Given the description of an element on the screen output the (x, y) to click on. 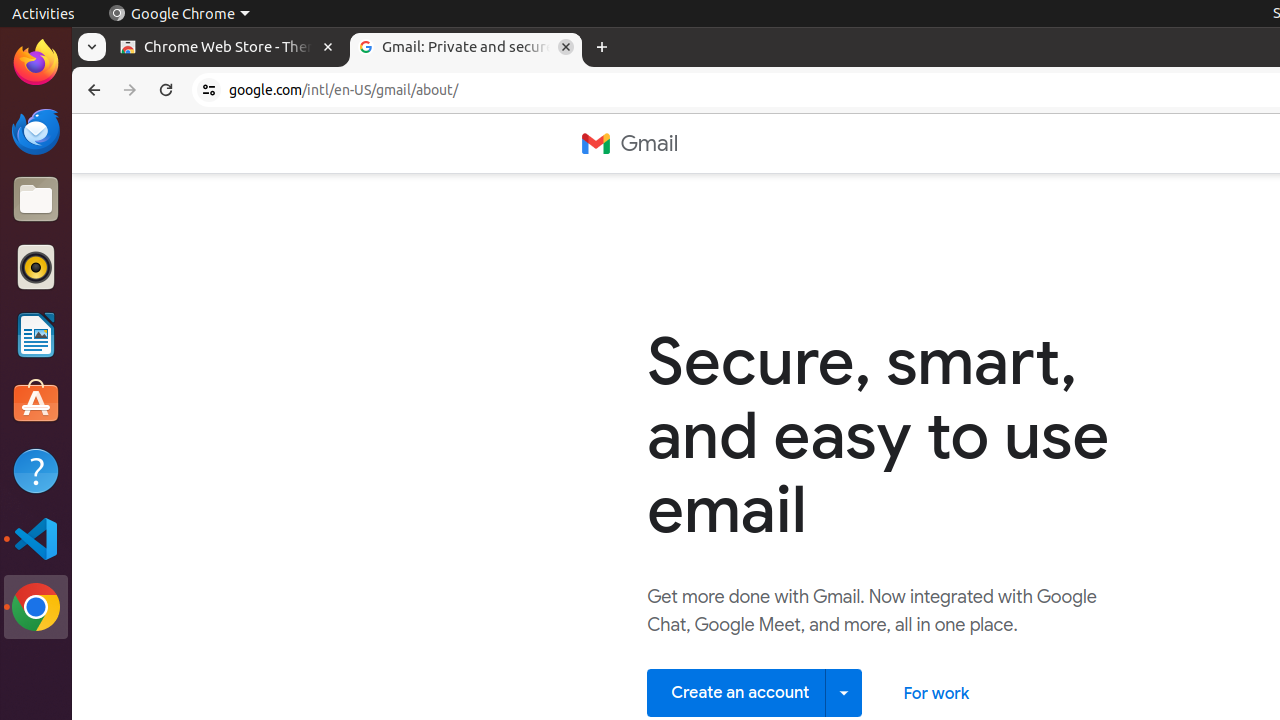
Thunderbird Mail Element type: push-button (36, 131)
Firefox Web Browser Element type: push-button (36, 63)
Google Chrome Element type: push-button (36, 607)
Ubuntu Software Element type: push-button (36, 402)
LibreOffice Writer Element type: push-button (36, 334)
